Given the description of an element on the screen output the (x, y) to click on. 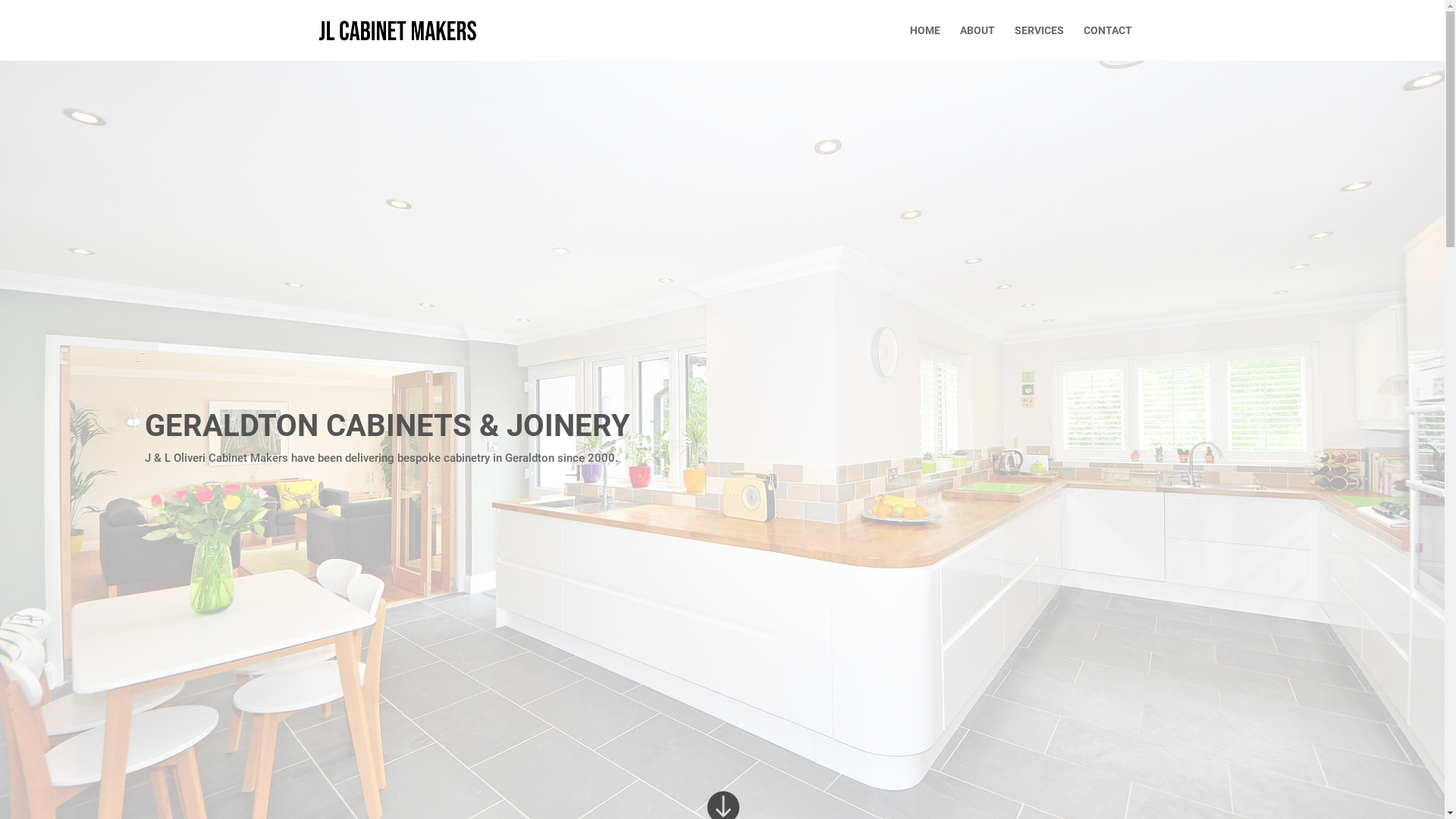
CONTACT Element type: text (1106, 42)
HOME Element type: text (925, 42)
SERVICES Element type: text (1038, 42)
ABOUT Element type: text (977, 42)
